Given the description of an element on the screen output the (x, y) to click on. 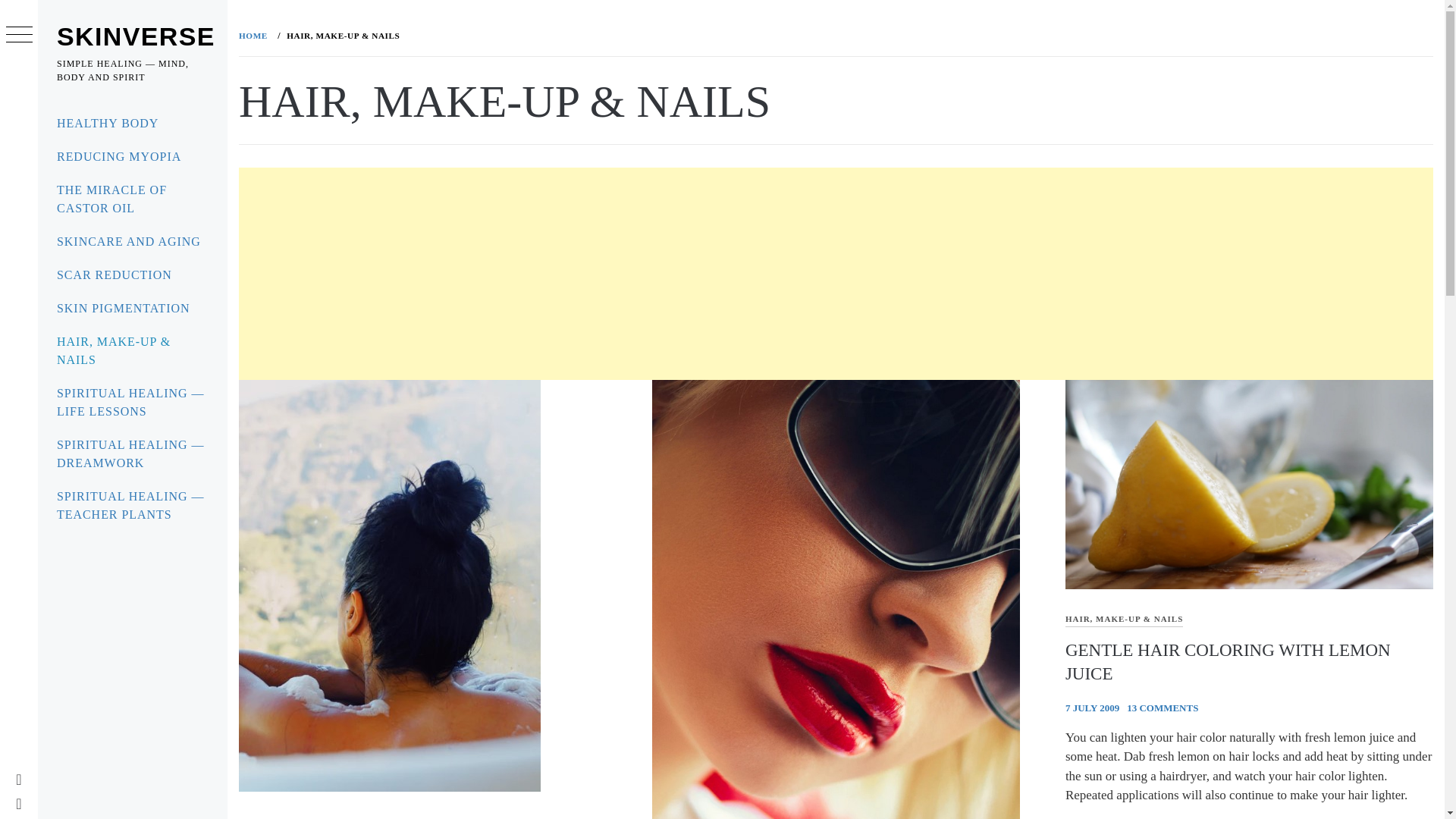
THE MIRACLE OF CASTOR OIL (132, 199)
SKINCARE AND AGING (132, 241)
HOME (255, 35)
SKINVERSE (135, 36)
SCAR REDUCTION (132, 274)
Search (646, 37)
GENTLE HAIR COLORING WITH LEMON JUICE (1227, 661)
13 COMMENTS (1162, 707)
7 JULY 2009 (1092, 707)
